Given the description of an element on the screen output the (x, y) to click on. 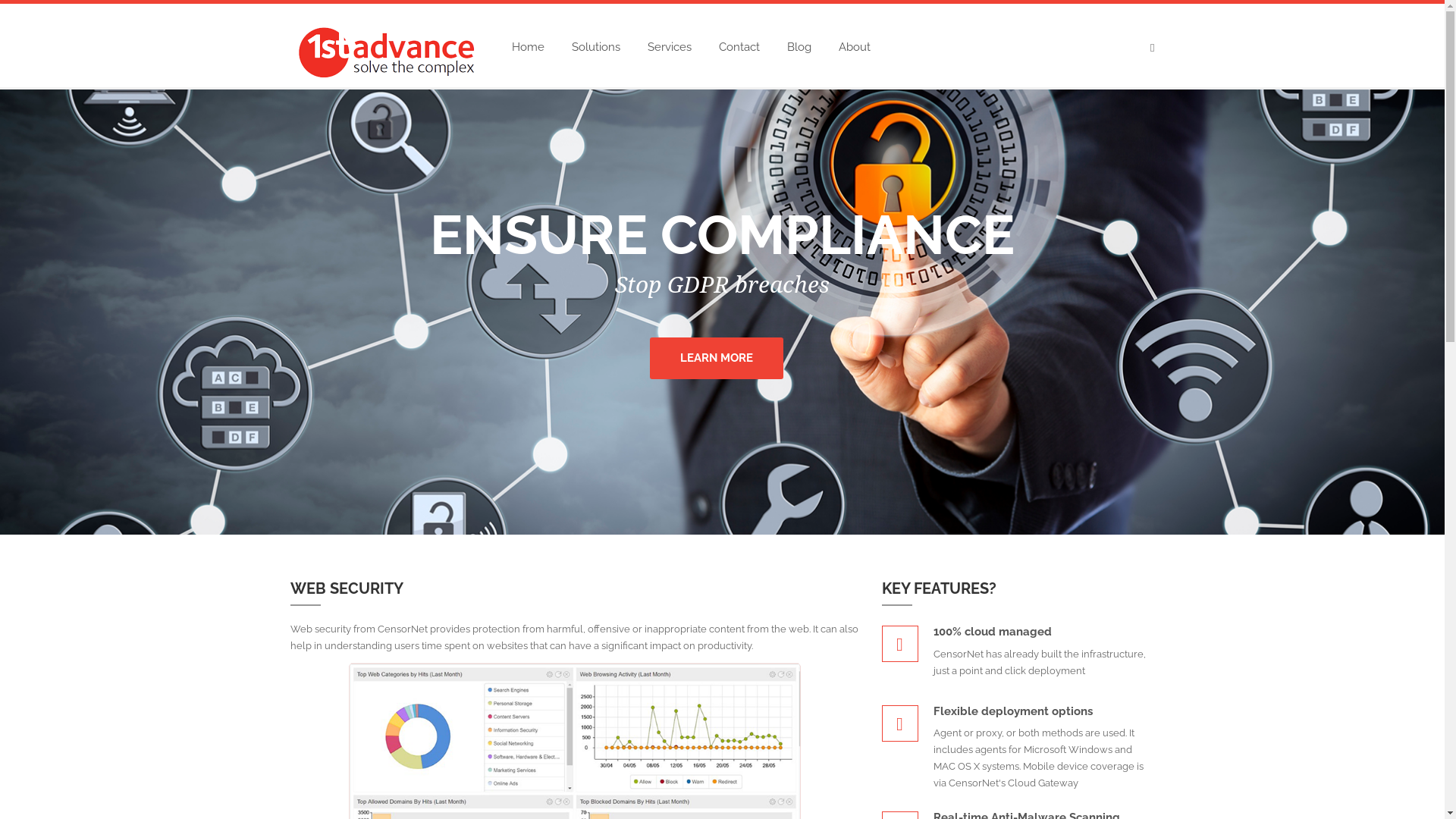
Contact Element type: text (739, 46)
Solutions Element type: text (595, 46)
Services Element type: text (669, 46)
About Element type: text (854, 46)
LEARN MORE Element type: text (716, 381)
Blog Element type: text (799, 46)
Home Element type: text (527, 46)
